Given the description of an element on the screen output the (x, y) to click on. 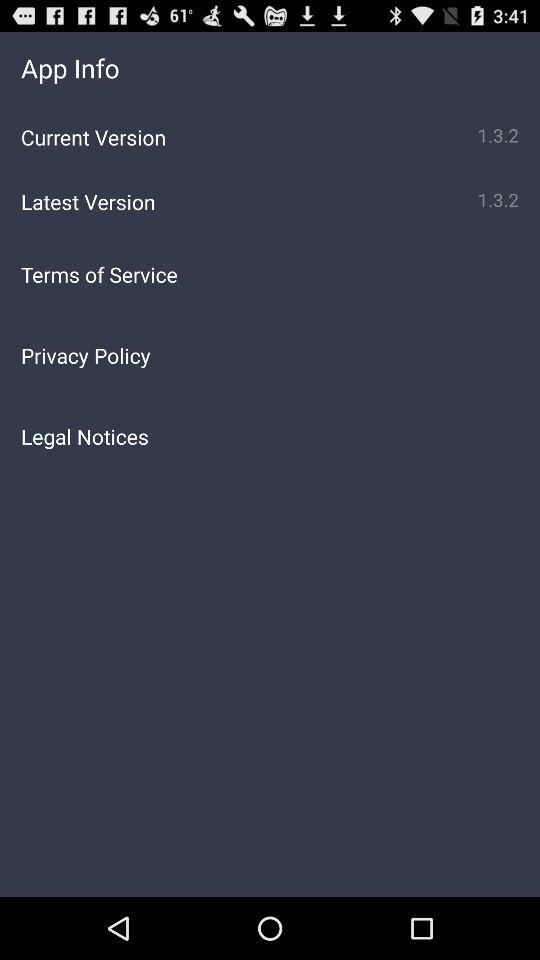
click the legal notices item (270, 435)
